Given the description of an element on the screen output the (x, y) to click on. 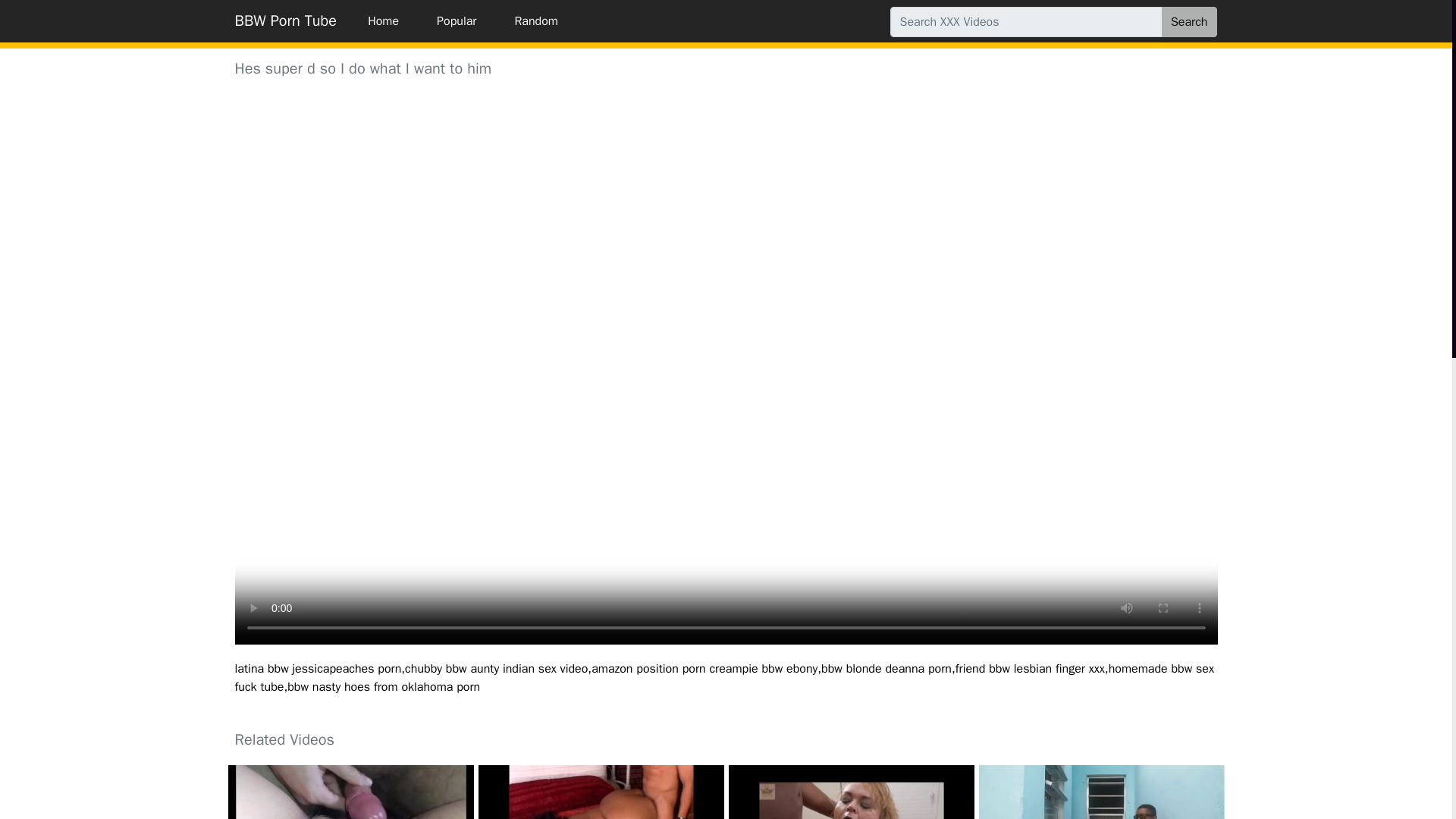
popular (535, 21)
Search (1188, 21)
popular (456, 21)
home (383, 21)
Home (383, 21)
BBW Porn Tube (285, 20)
Random (535, 21)
Popular (456, 21)
